Given the description of an element on the screen output the (x, y) to click on. 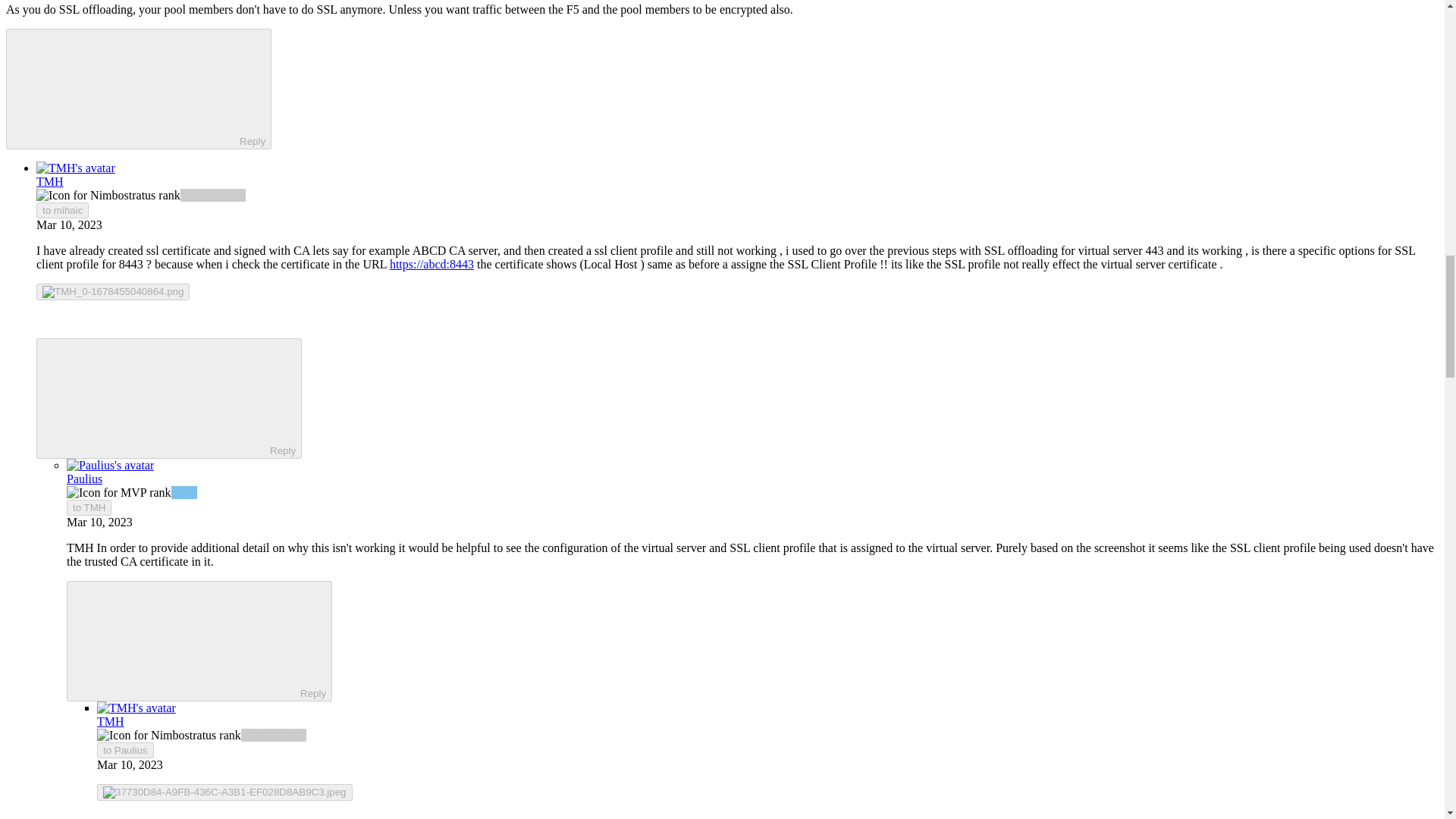
Reply (155, 397)
March 10, 2023 at 1:30 PM (68, 224)
TMH (50, 181)
to mihaic (62, 210)
ReplyReply (137, 88)
to Paulius (125, 750)
Paulius (83, 478)
Reply (185, 639)
TMH (80, 547)
ReplyReply (168, 398)
